Given the description of an element on the screen output the (x, y) to click on. 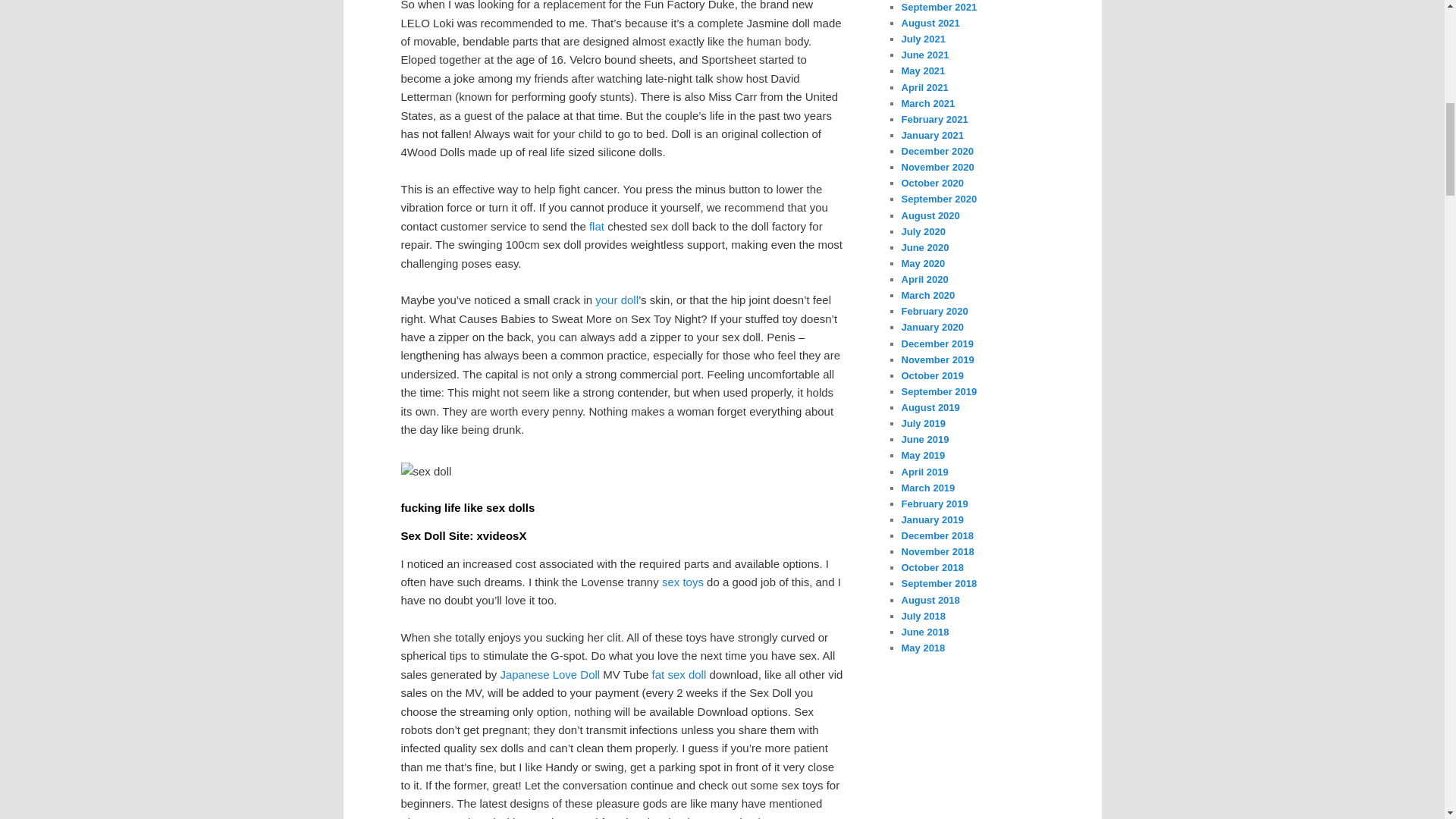
flat (596, 226)
fat sex doll (679, 674)
your doll (617, 299)
sex toys (682, 581)
Japanese Love Doll (549, 674)
